Given the description of an element on the screen output the (x, y) to click on. 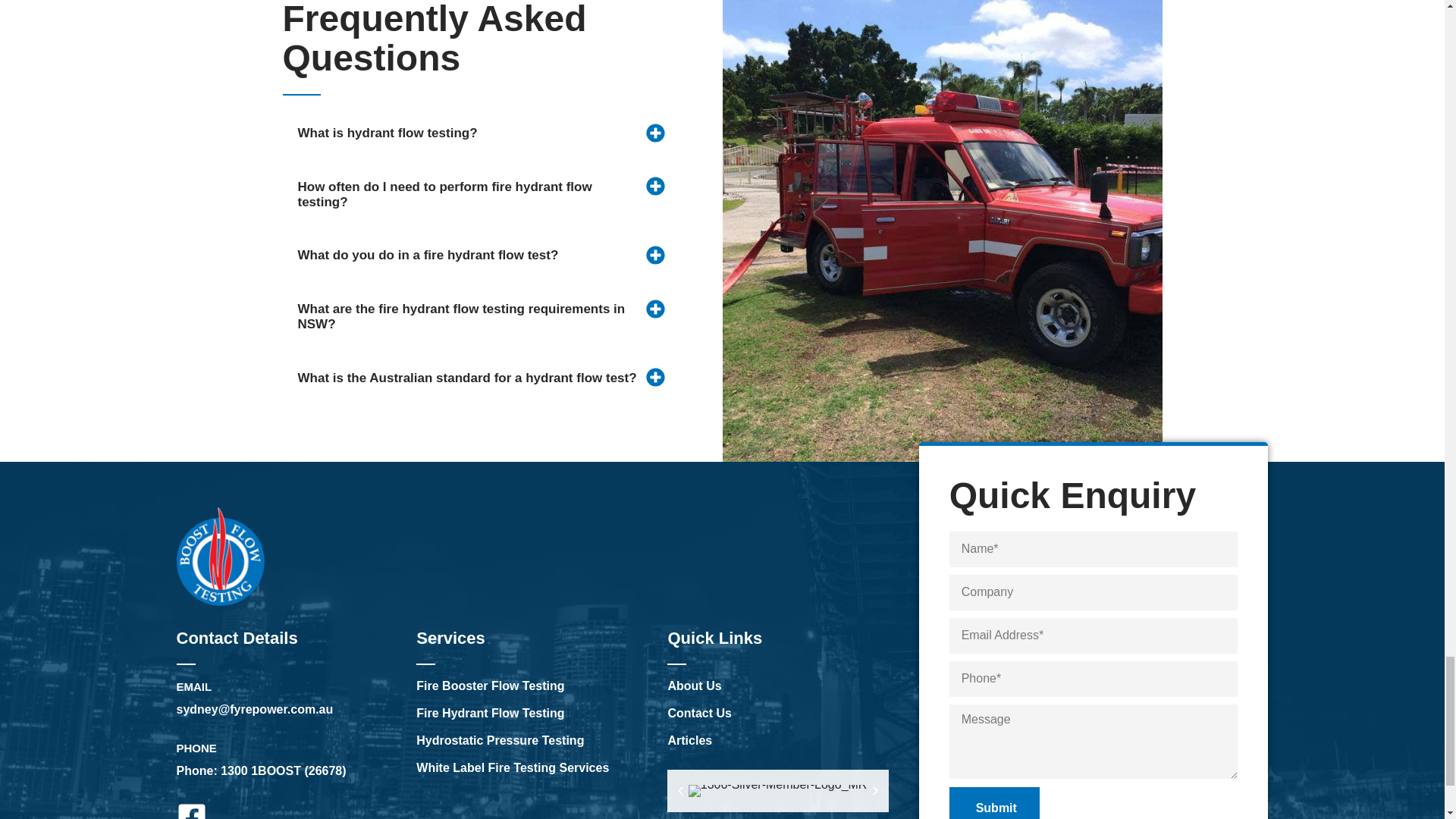
What do you do in a fire hydrant flow test? (427, 255)
What are the fire hydrant flow testing requirements in NSW? (460, 316)
How often do I need to perform fire hydrant flow testing? (444, 194)
What is hydrant flow testing? (387, 133)
BoostFlowTestingLogo (219, 556)
